Given the description of an element on the screen output the (x, y) to click on. 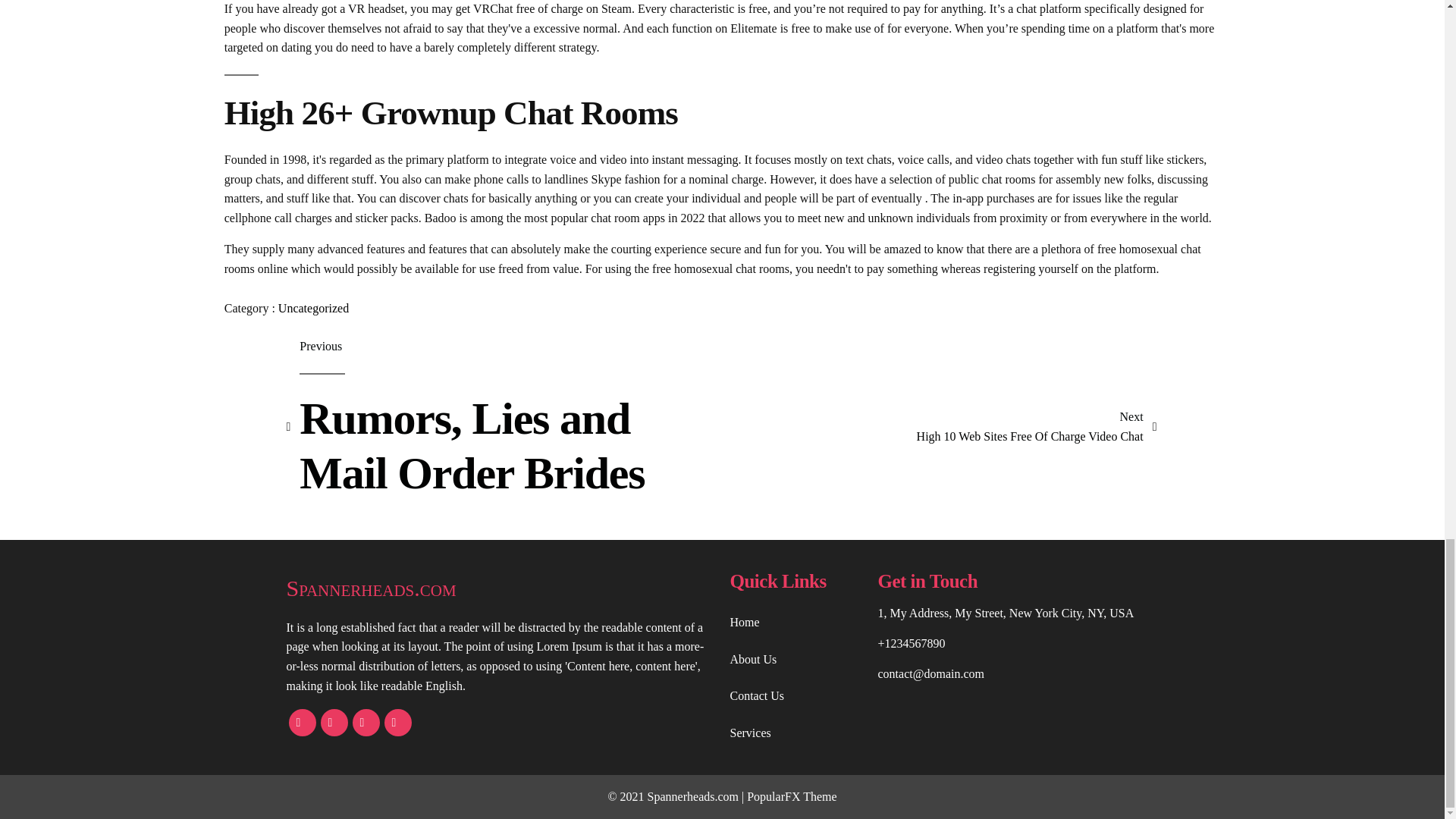
PopularFX Theme (790, 796)
Spannerheads.com (1037, 426)
Uncategorized (504, 426)
